Given the description of an element on the screen output the (x, y) to click on. 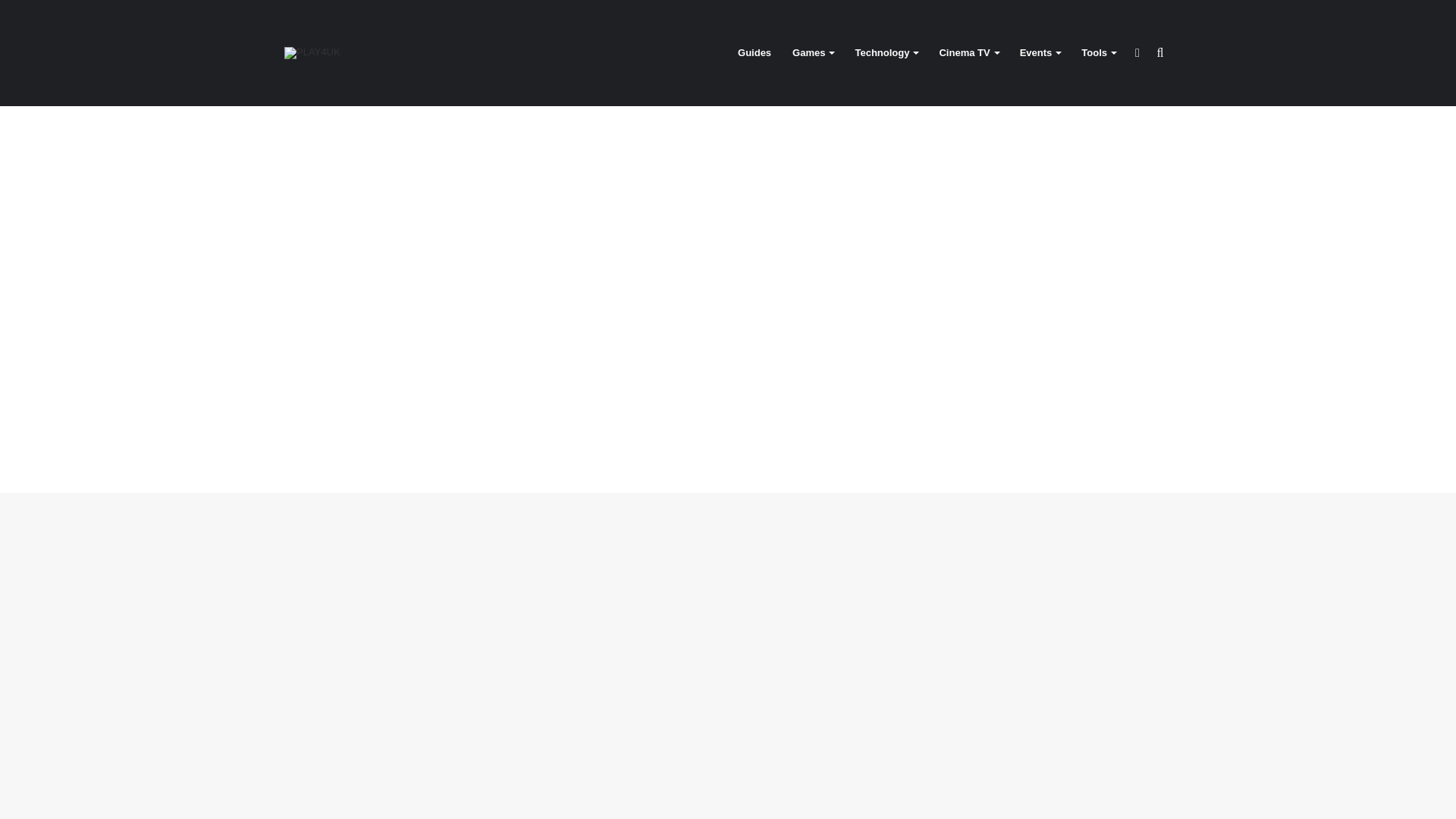
PLAY4UK (311, 52)
